Given the description of an element on the screen output the (x, y) to click on. 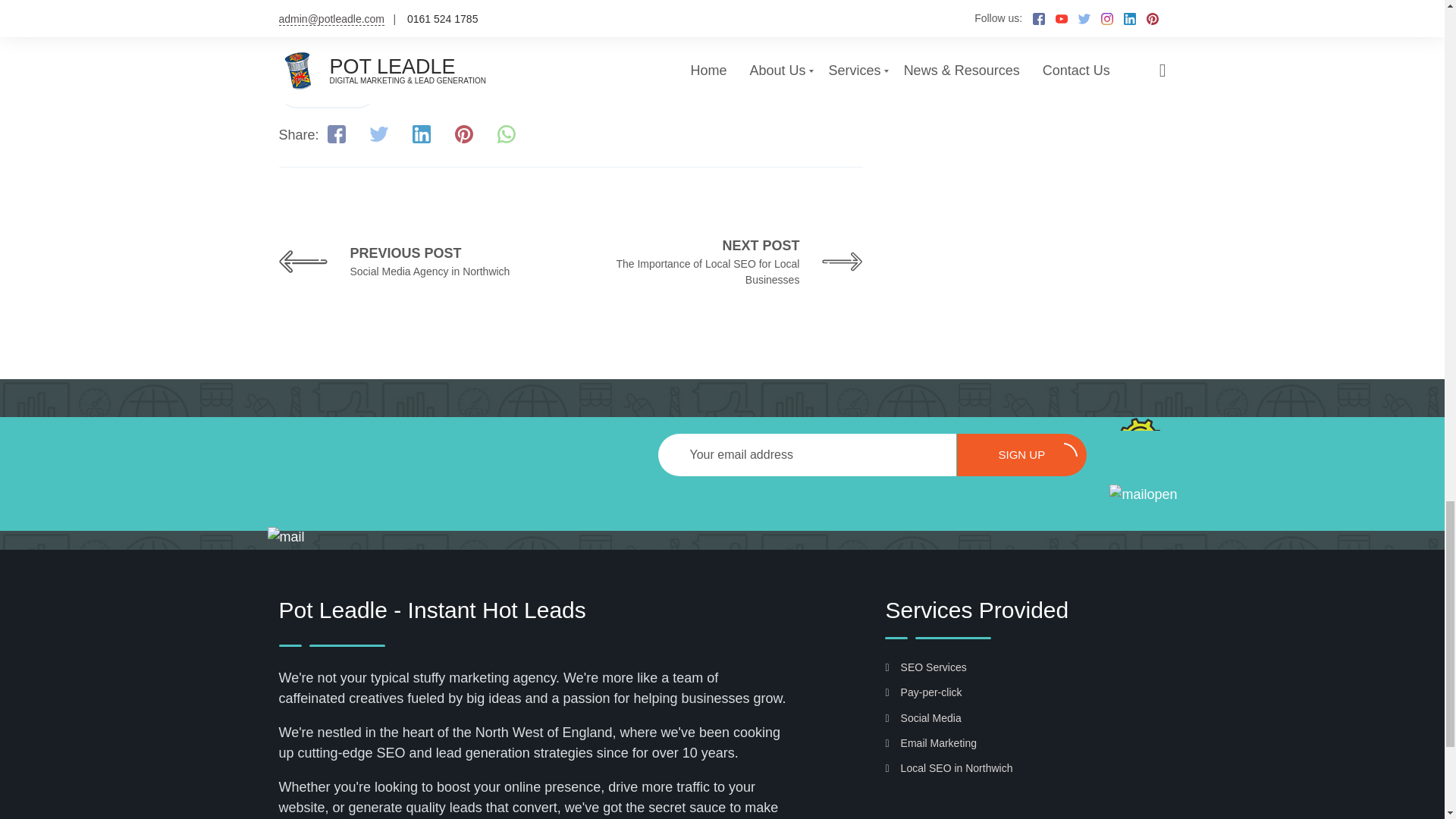
Pay Per Click Management (360, 48)
